Given the description of an element on the screen output the (x, y) to click on. 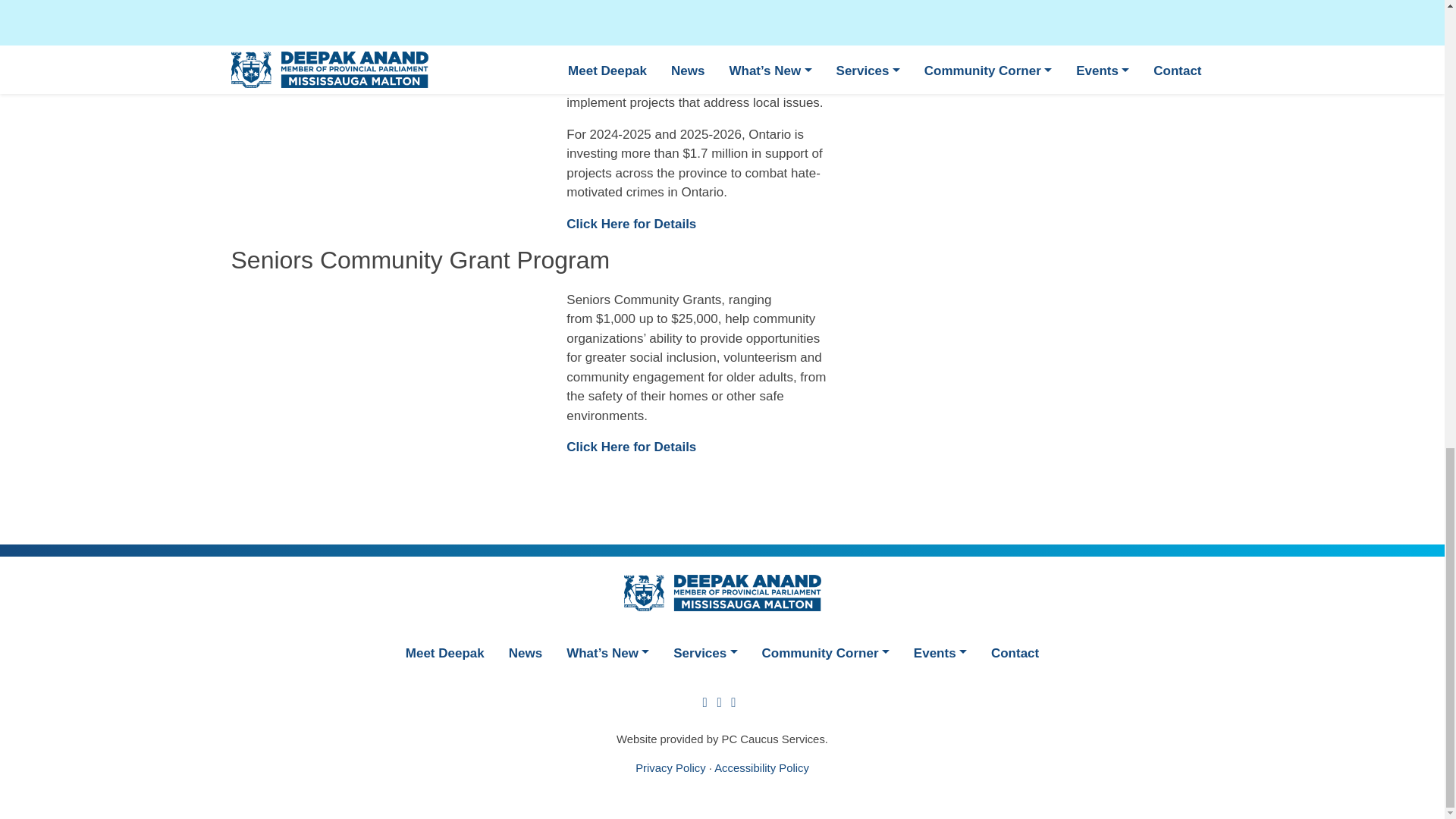
News (525, 652)
Click Here for Details (630, 223)
Click Here for Details (630, 446)
Meet Deepak (444, 652)
